Given the description of an element on the screen output the (x, y) to click on. 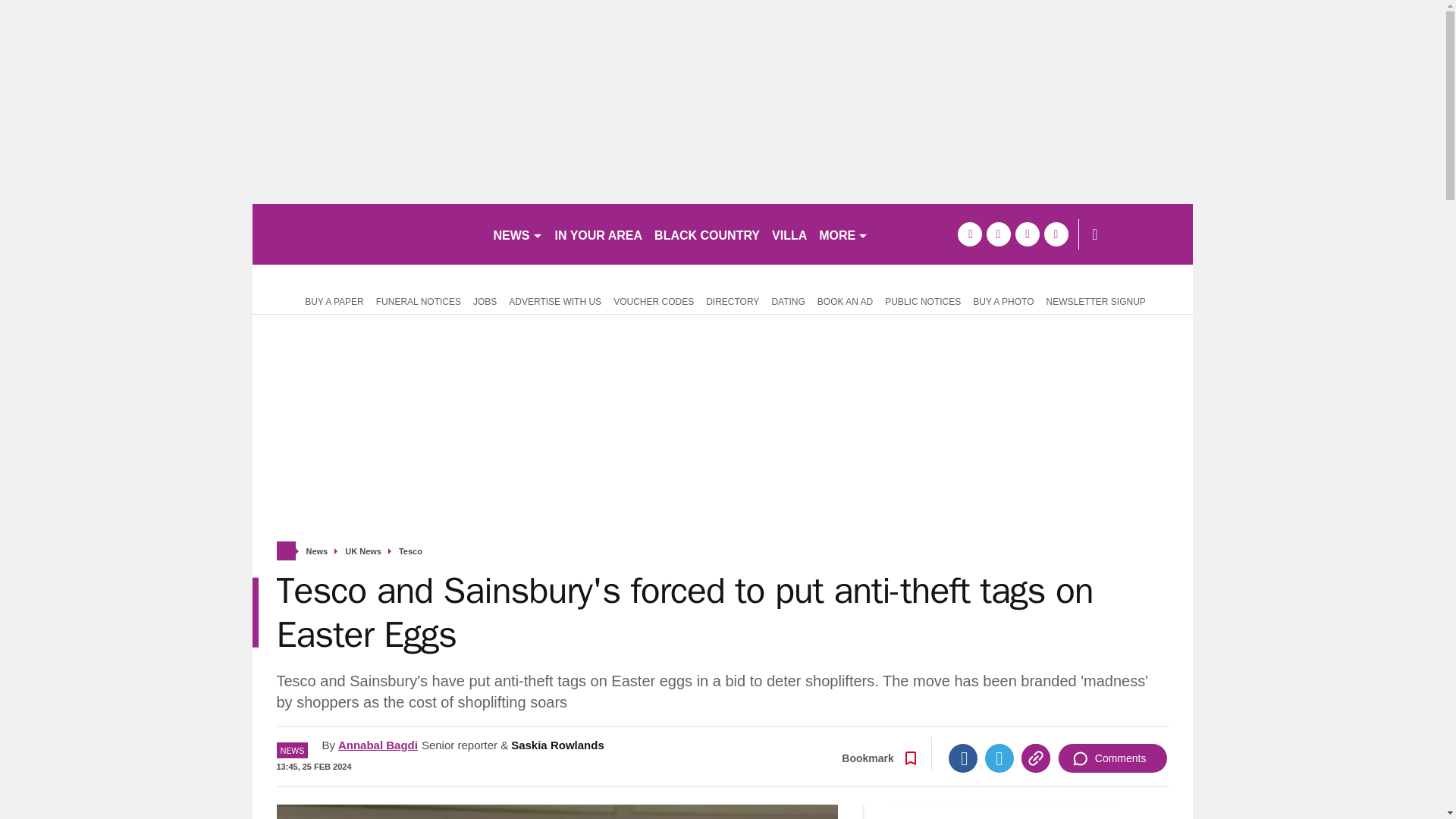
Comments (1112, 758)
BLACK COUNTRY (706, 233)
facebook (968, 233)
MORE (843, 233)
NEWS (517, 233)
birminghammail (365, 233)
IN YOUR AREA (598, 233)
instagram (1055, 233)
Twitter (999, 758)
Facebook (962, 758)
